Given the description of an element on the screen output the (x, y) to click on. 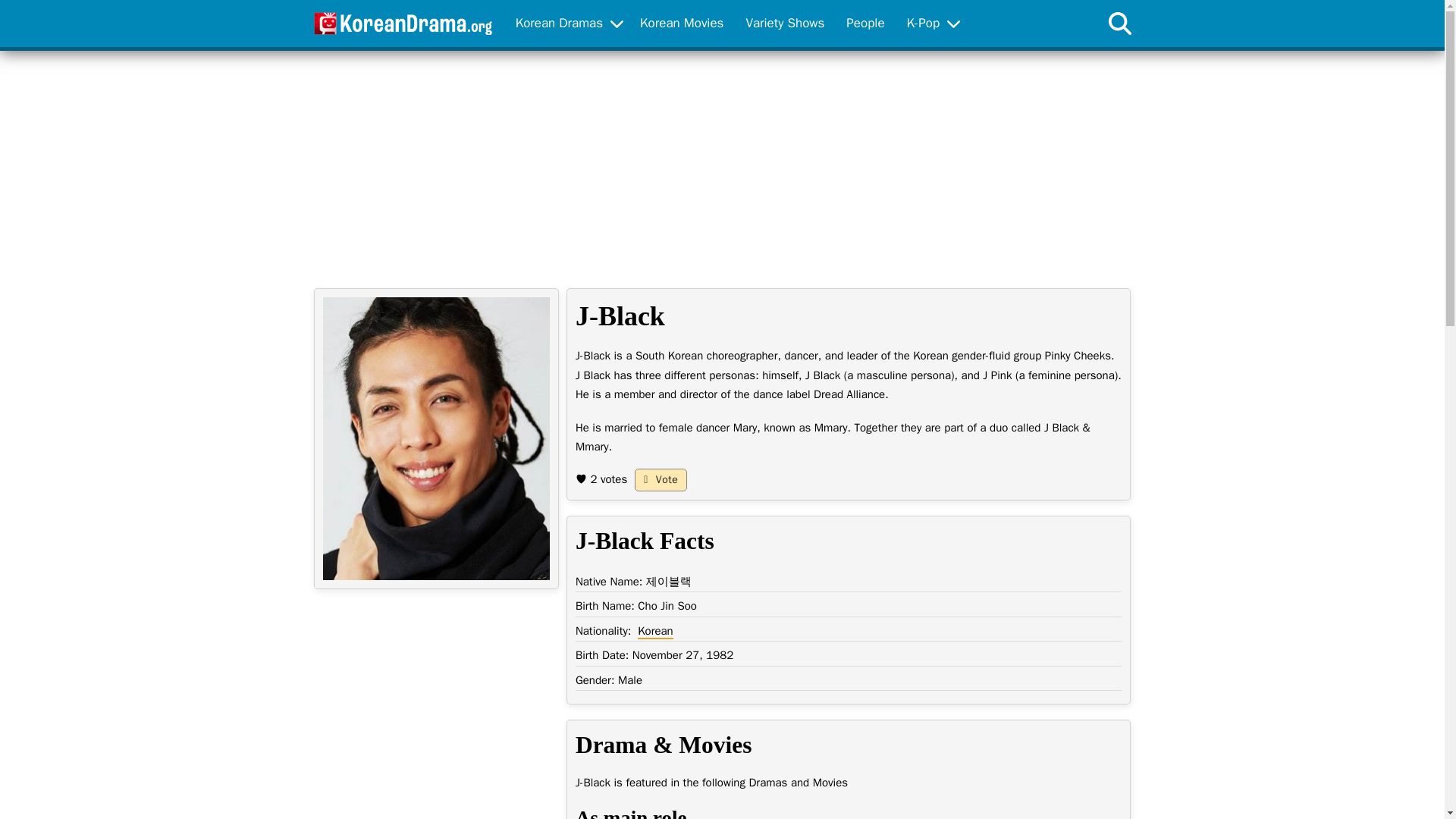
Korean Dramas (559, 24)
K-Pop (922, 24)
Variety Shows (784, 24)
Korean Movies (681, 24)
People (865, 24)
